Given the description of an element on the screen output the (x, y) to click on. 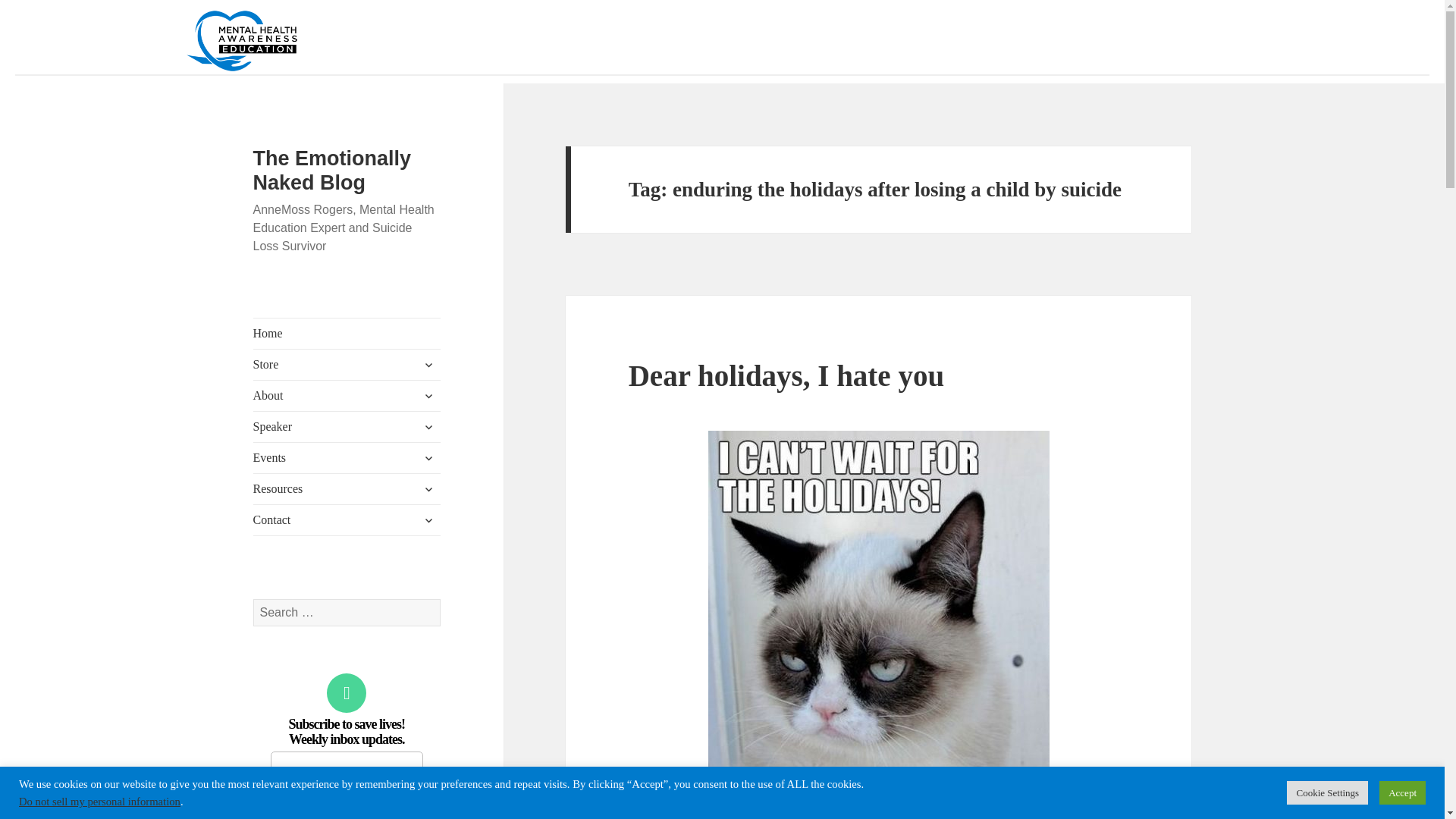
About (347, 395)
The Emotionally Naked Blog (332, 170)
expand child menu (428, 488)
expand child menu (428, 395)
Speaker (347, 426)
expand child menu (428, 457)
Contact (347, 520)
expand child menu (428, 426)
